Given the description of an element on the screen output the (x, y) to click on. 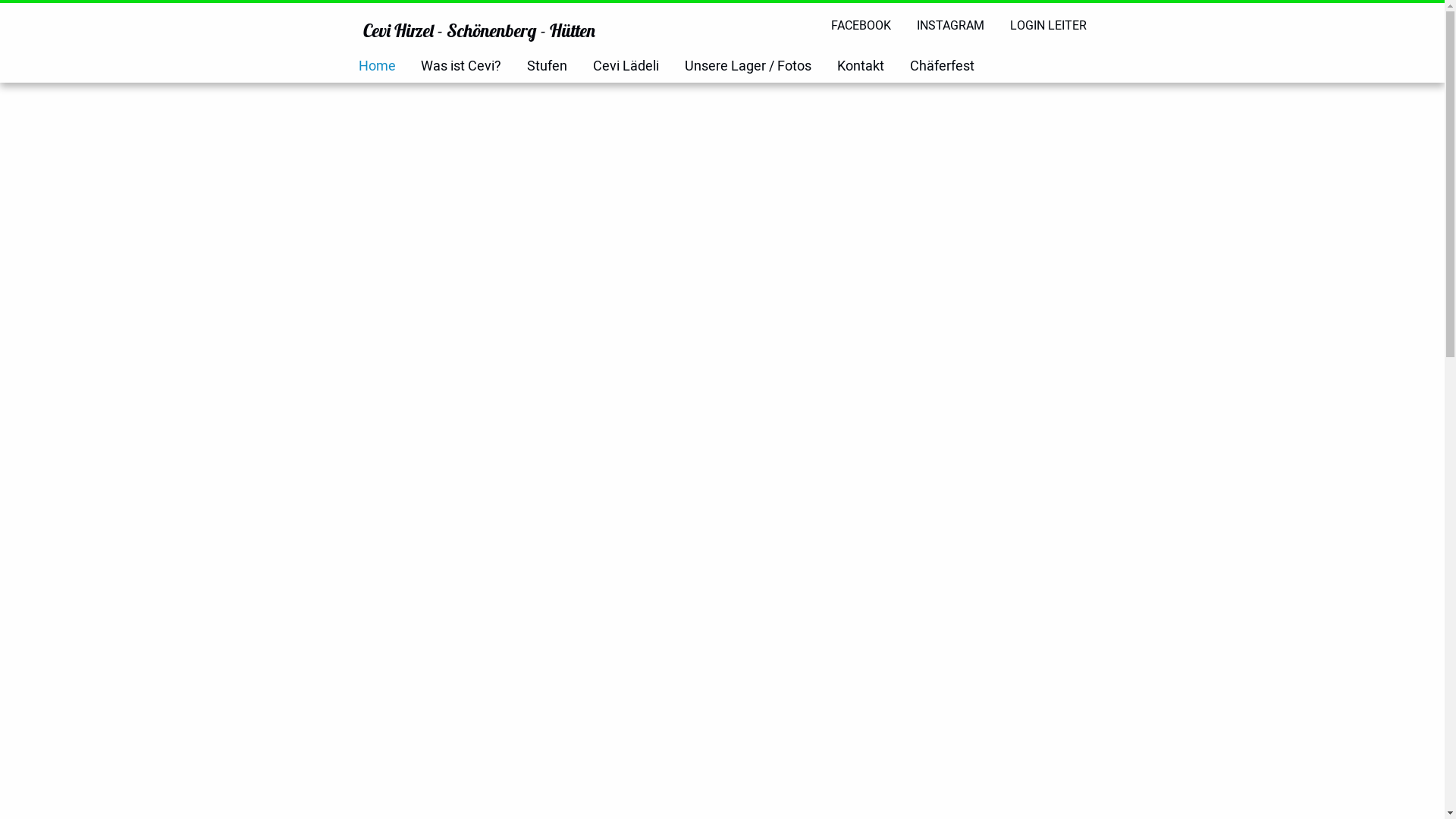
Home Element type: text (376, 66)
INSTAGRAM Element type: text (950, 25)
Was ist Cevi? Element type: text (460, 66)
FACEBOOK Element type: text (861, 25)
Unsere Lager / Fotos Element type: text (747, 66)
LOGIN LEITER Element type: text (1048, 25)
Kontakt Element type: text (860, 66)
Stufen Element type: text (547, 66)
